Given the description of an element on the screen output the (x, y) to click on. 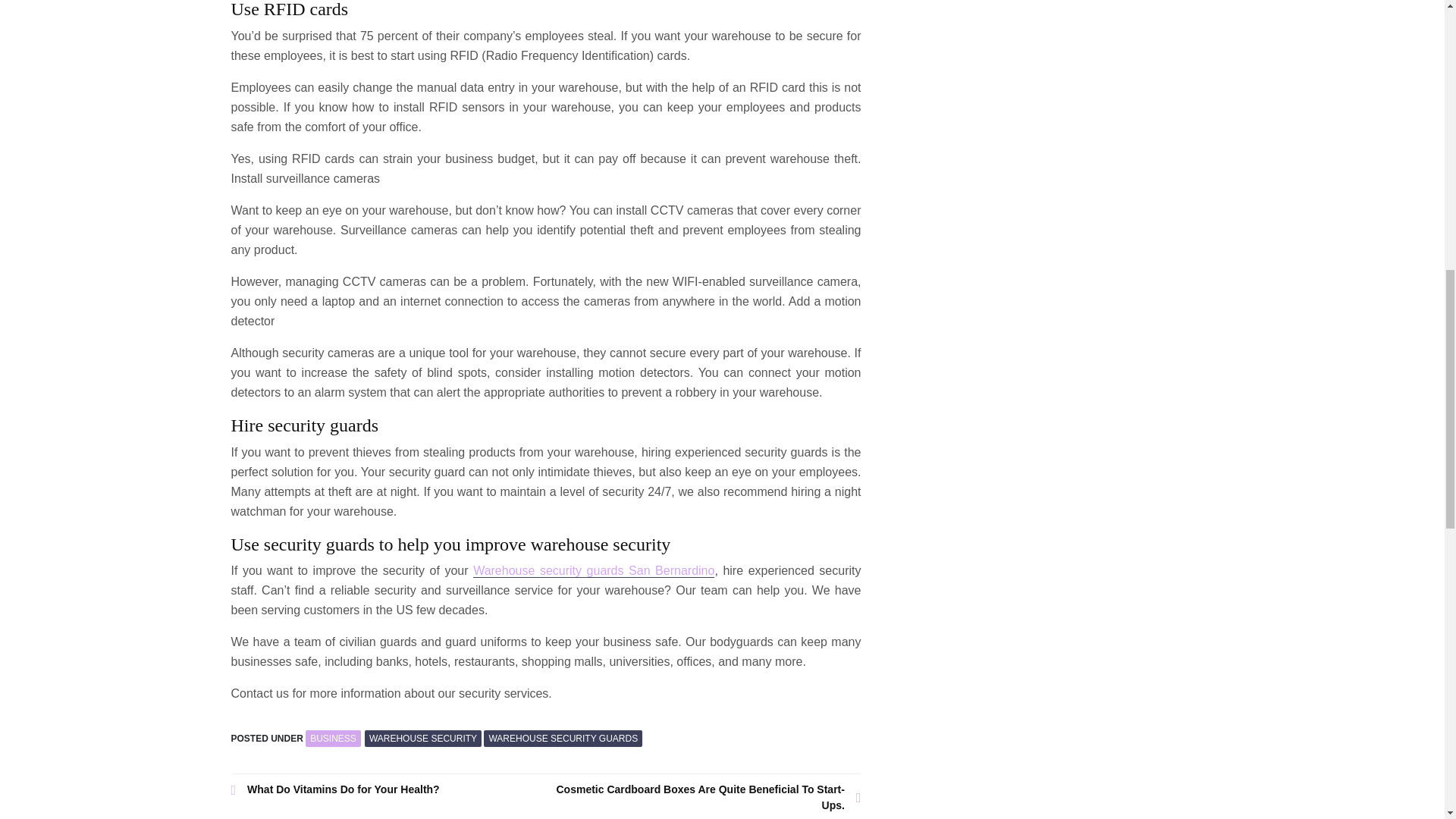
Warehouse security guards San Bernardino (593, 571)
Cosmetic Cardboard Boxes Are Quite Beneficial To Start-Ups. (703, 798)
What Do Vitamins Do for Your Health? (388, 789)
BUSINESS (333, 738)
WAREHOUSE SECURITY (423, 738)
WAREHOUSE SECURITY GUARDS (562, 738)
